Given the description of an element on the screen output the (x, y) to click on. 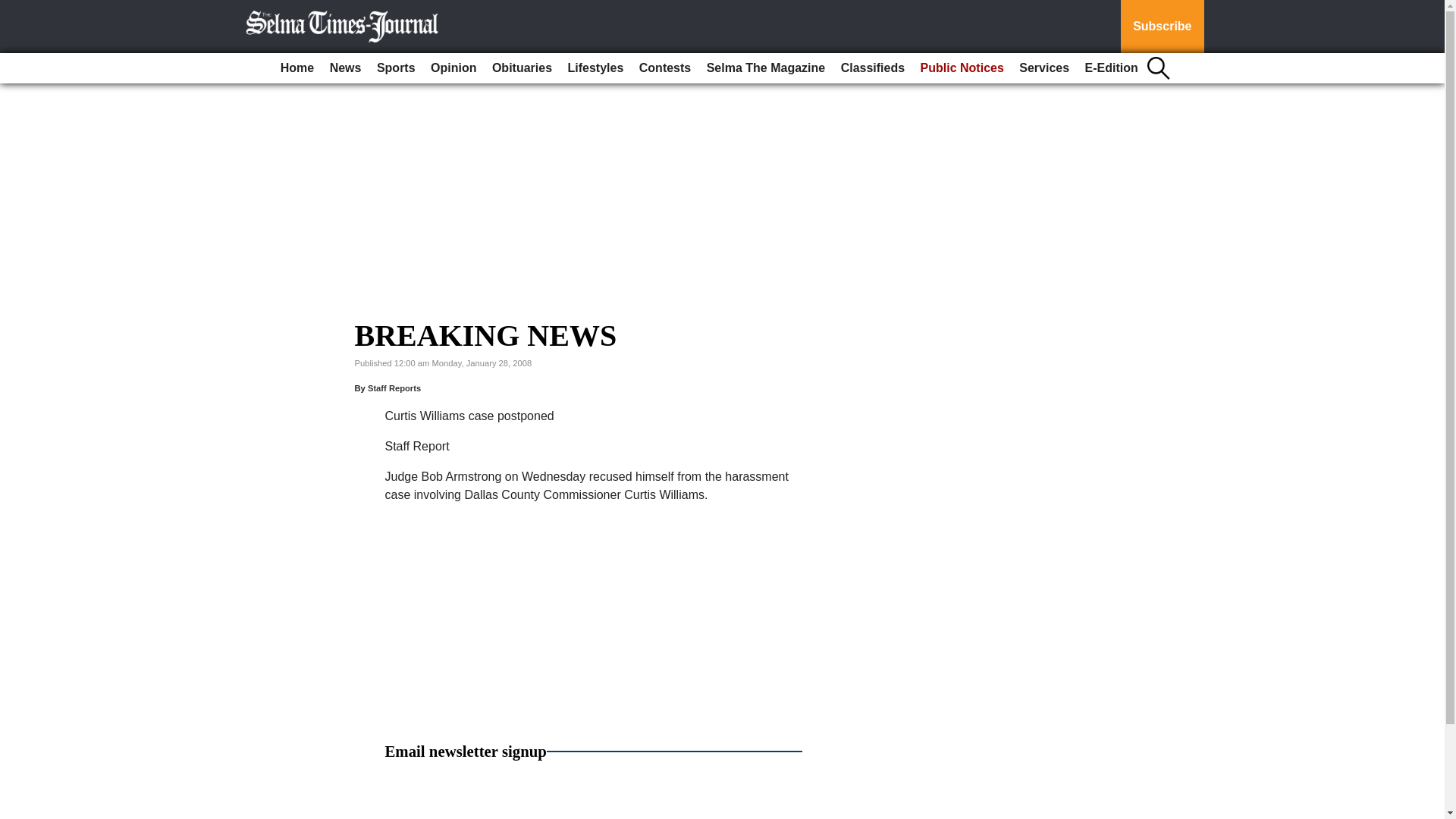
Services (1044, 68)
Opinion (453, 68)
Home (297, 68)
Staff Reports (394, 388)
Public Notices (962, 68)
Subscribe (1162, 26)
E-Edition (1111, 68)
Contests (665, 68)
Classifieds (872, 68)
Obituaries (521, 68)
